Given the description of an element on the screen output the (x, y) to click on. 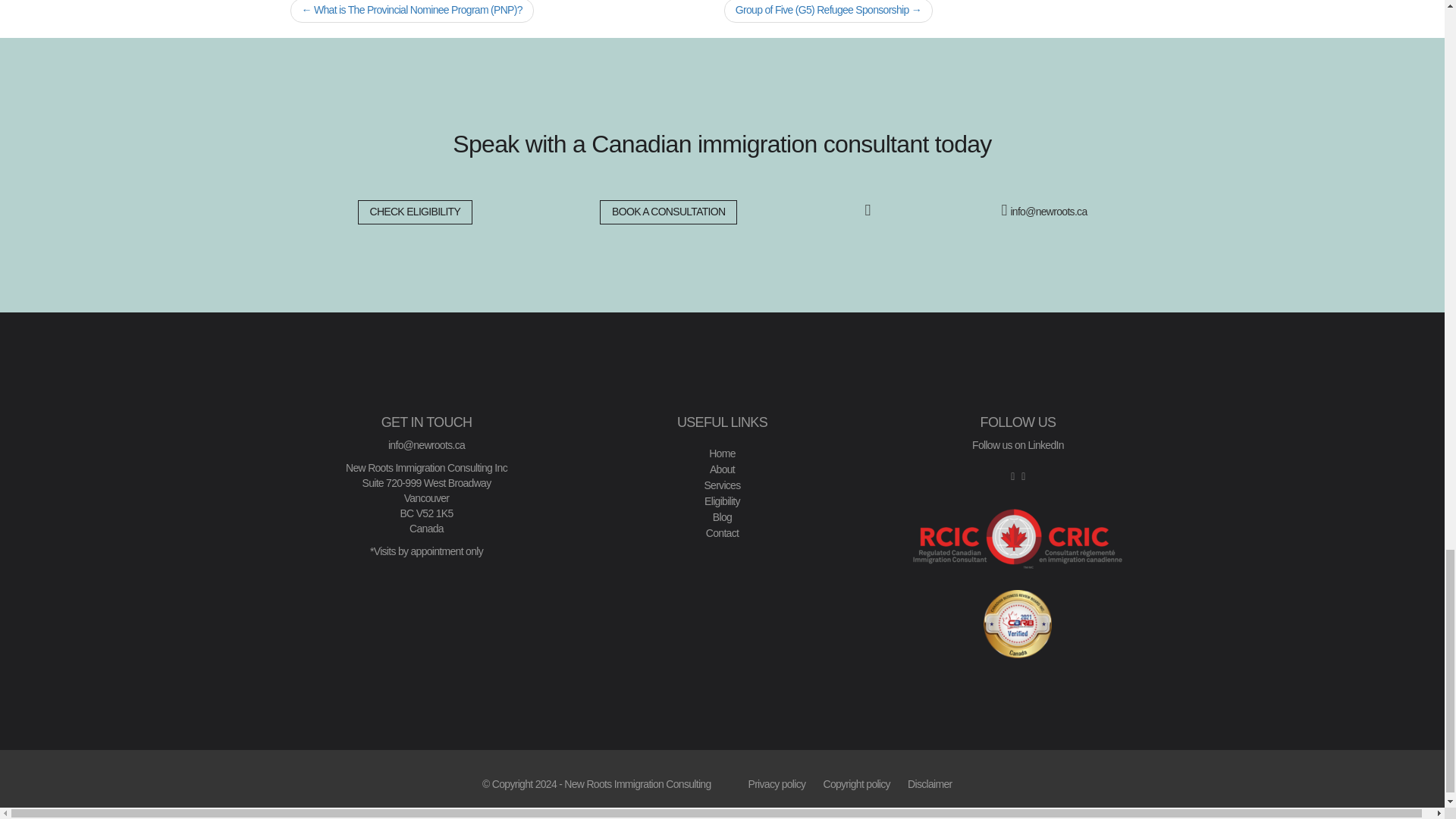
New Roots Immigration Consulting (637, 784)
BOOK A CONSULTATION (667, 211)
CHECK ELIGIBILITY (415, 211)
